Given the description of an element on the screen output the (x, y) to click on. 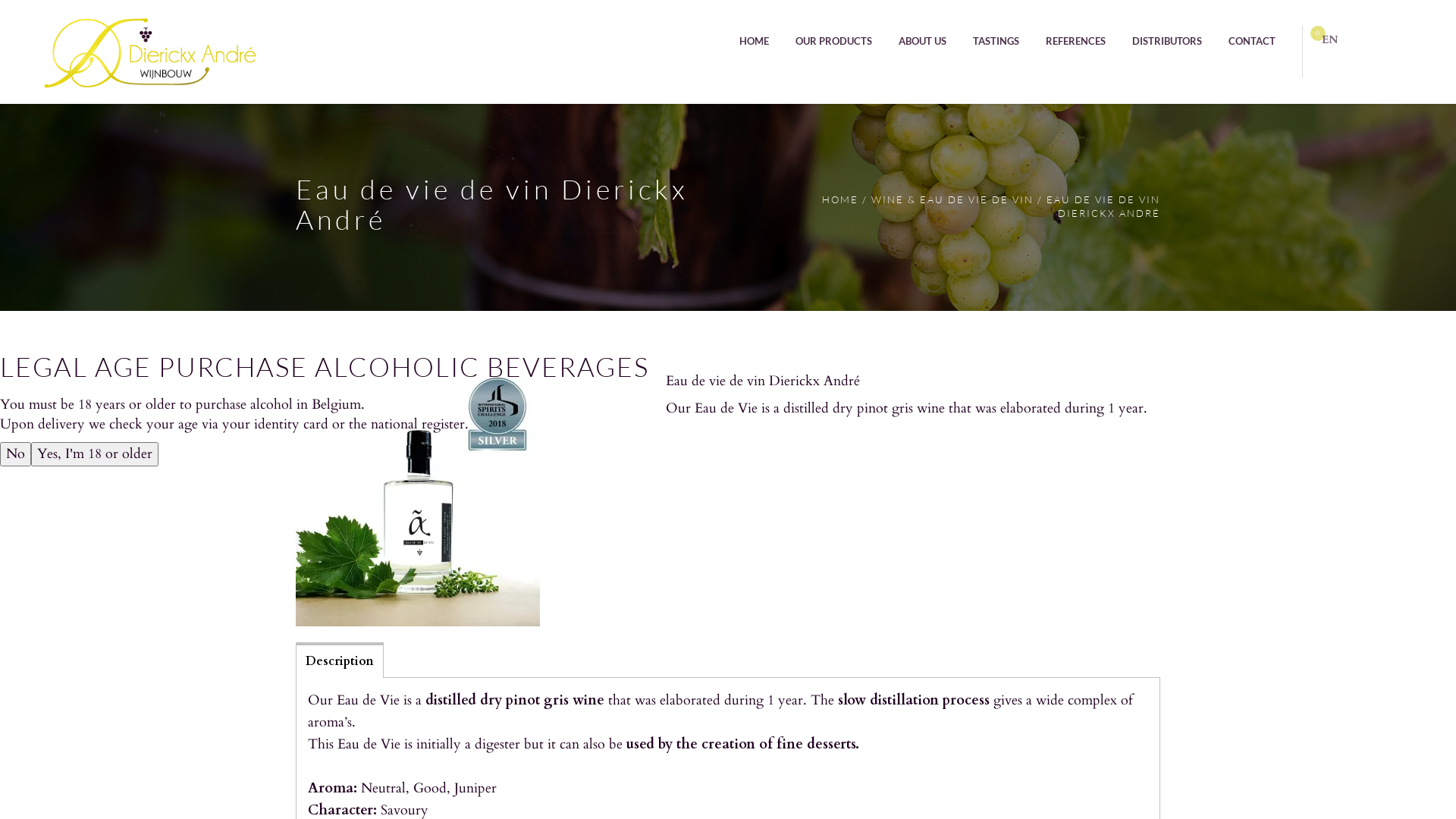
ABOUT US Element type: text (922, 41)
OUR PRODUCTS Element type: text (833, 41)
REFERENCES Element type: text (1075, 41)
TASTINGS Element type: text (995, 41)
Description Element type: text (339, 659)
WINE & EAU DE VIE DE VIN Element type: text (952, 199)
HOME Element type: text (840, 199)
CONTACT Element type: text (1251, 41)
Yes, I'm 18 or older Element type: text (94, 454)
No Element type: text (15, 454)
EN Element type: text (1321, 39)
DISTRIBUTORS Element type: text (1166, 41)
HOME Element type: text (754, 41)
